Given the description of an element on the screen output the (x, y) to click on. 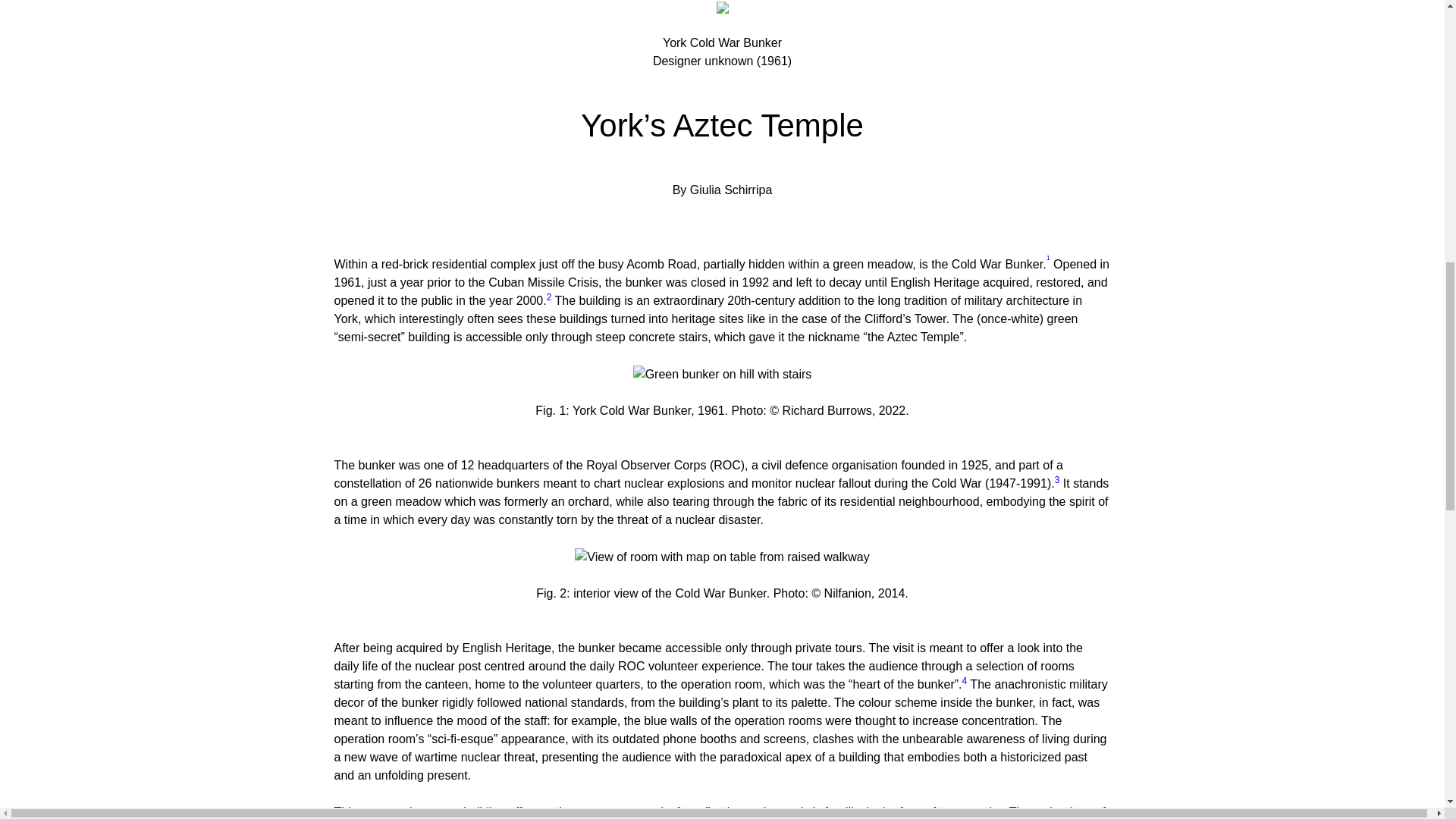
Back to top (717, 11)
